Given the description of an element on the screen output the (x, y) to click on. 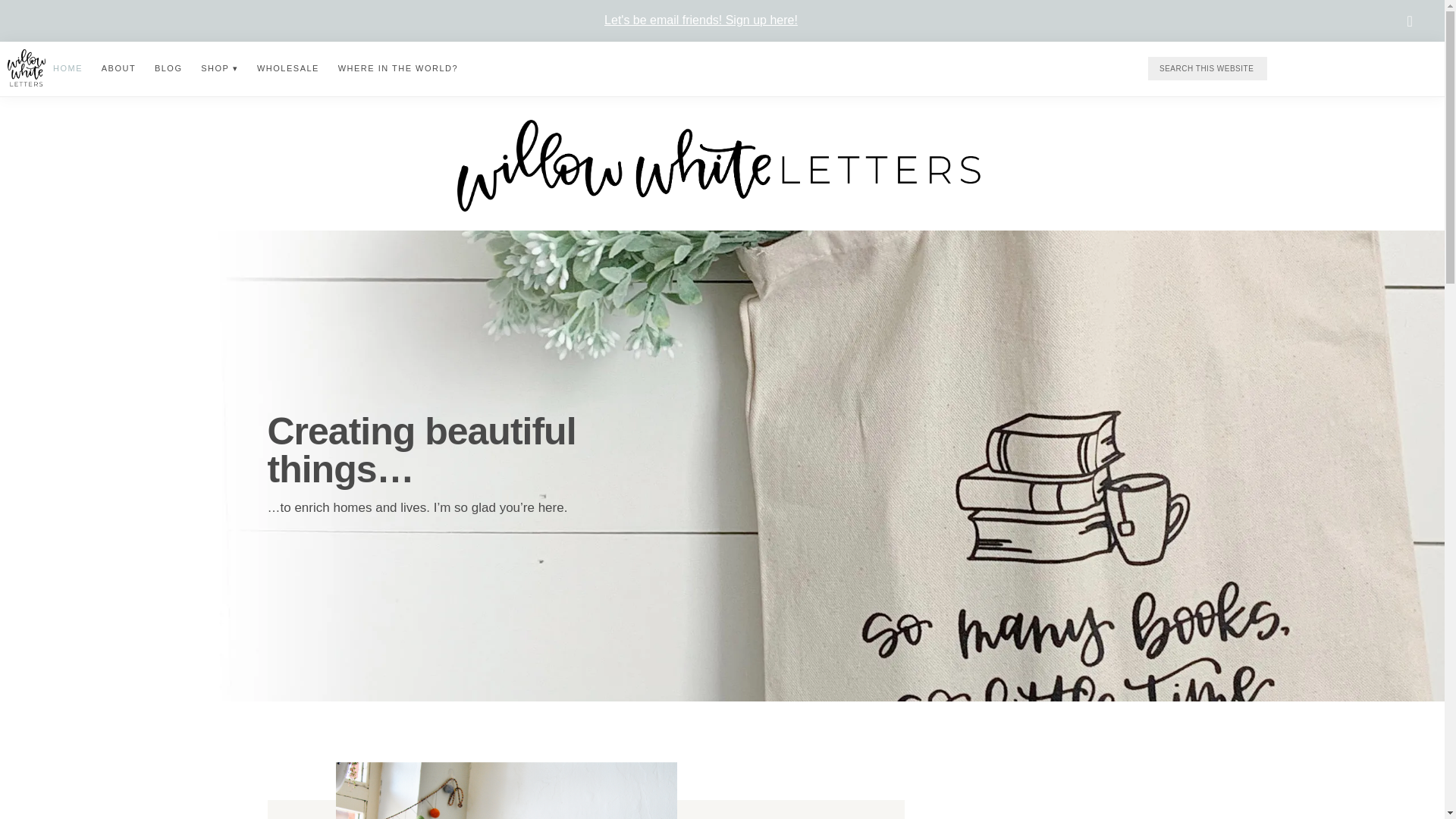
BLOG (168, 68)
HOME (67, 68)
WHERE IN THE WORLD? (397, 68)
ABOUT (118, 68)
WHOLESALE (287, 68)
CLOSE TOP BANNER (1409, 20)
